Given the description of an element on the screen output the (x, y) to click on. 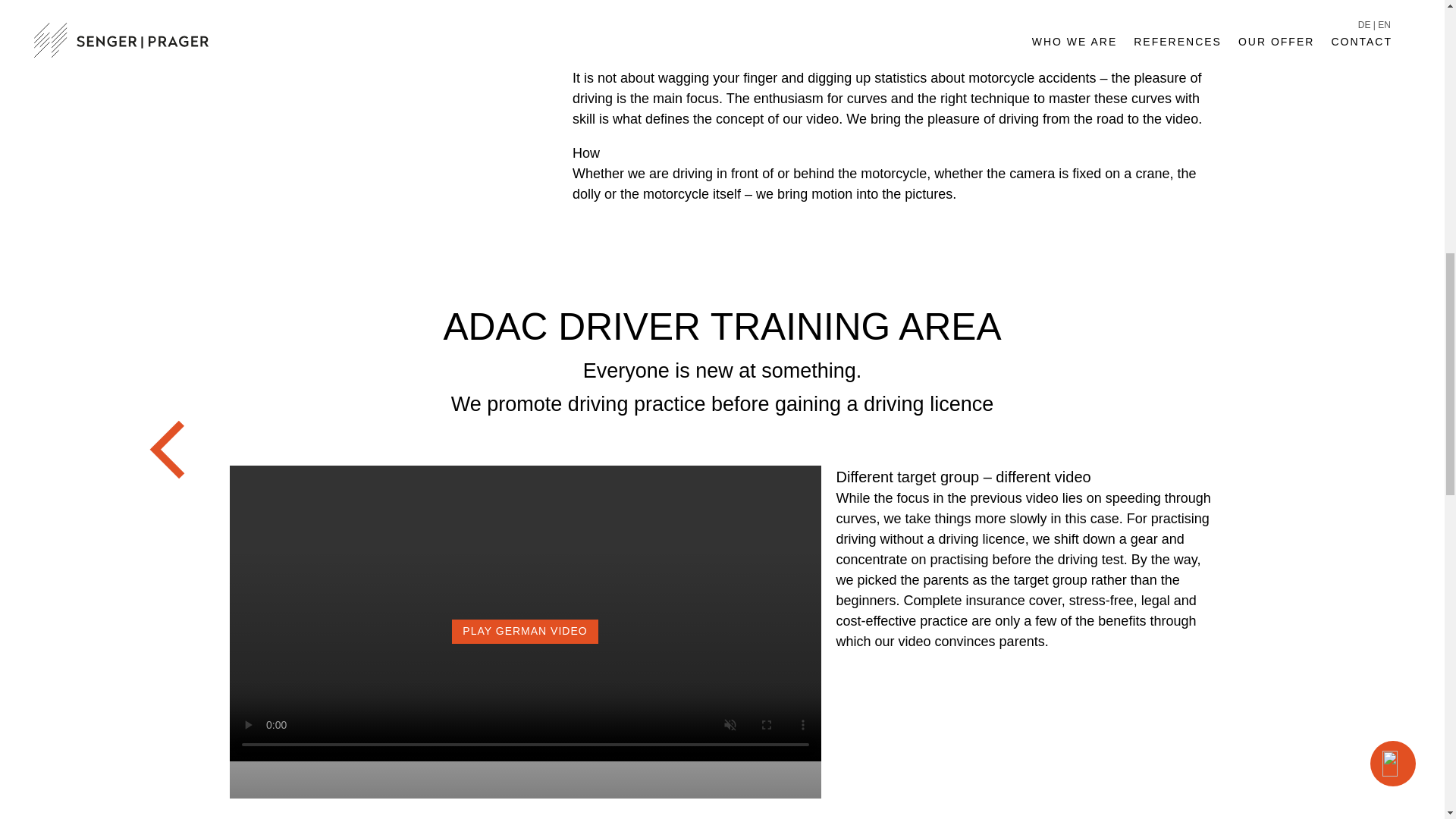
PLAY GERMAN VIDEO (524, 756)
